Given the description of an element on the screen output the (x, y) to click on. 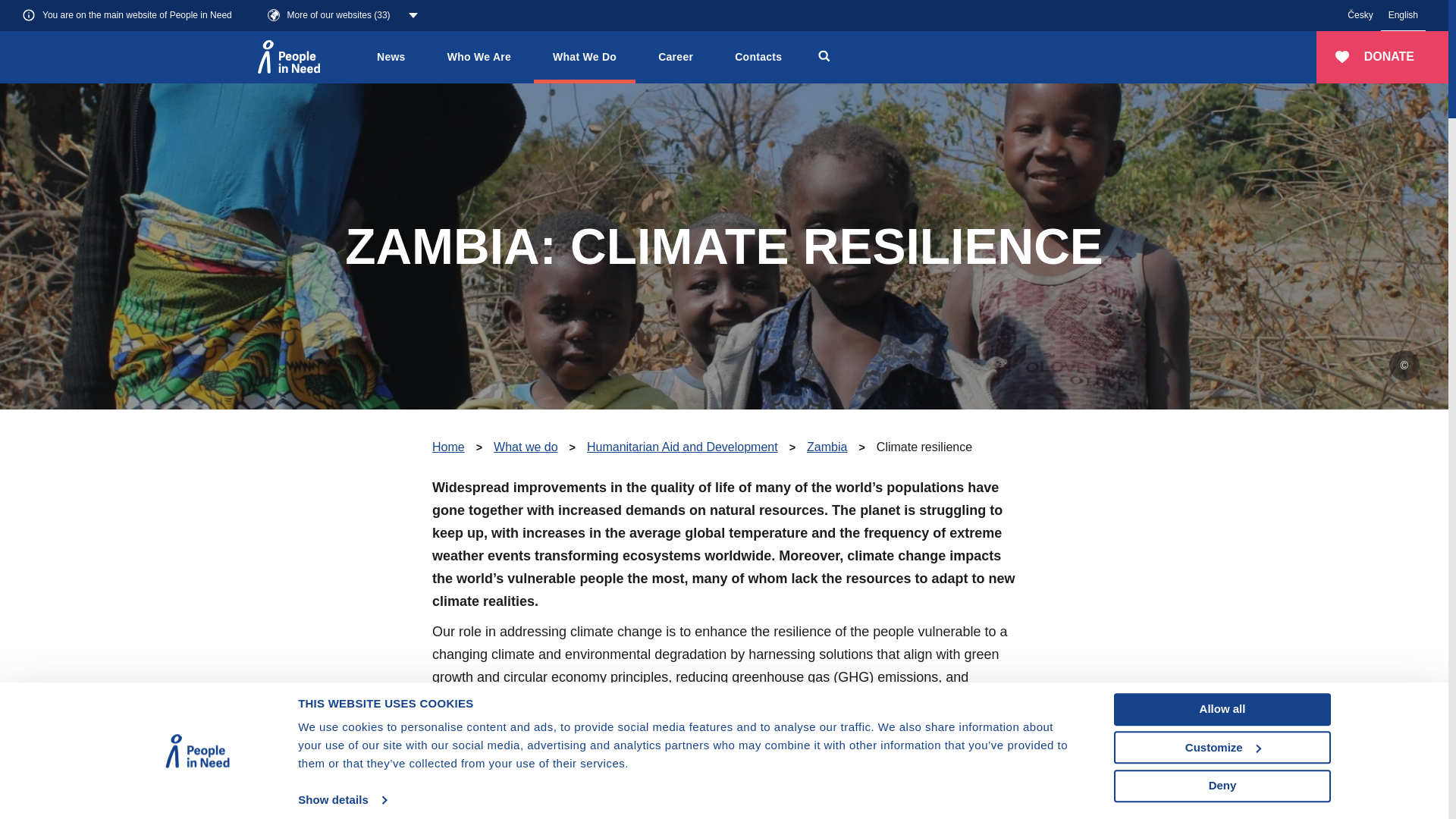
Show details (341, 799)
